Given the description of an element on the screen output the (x, y) to click on. 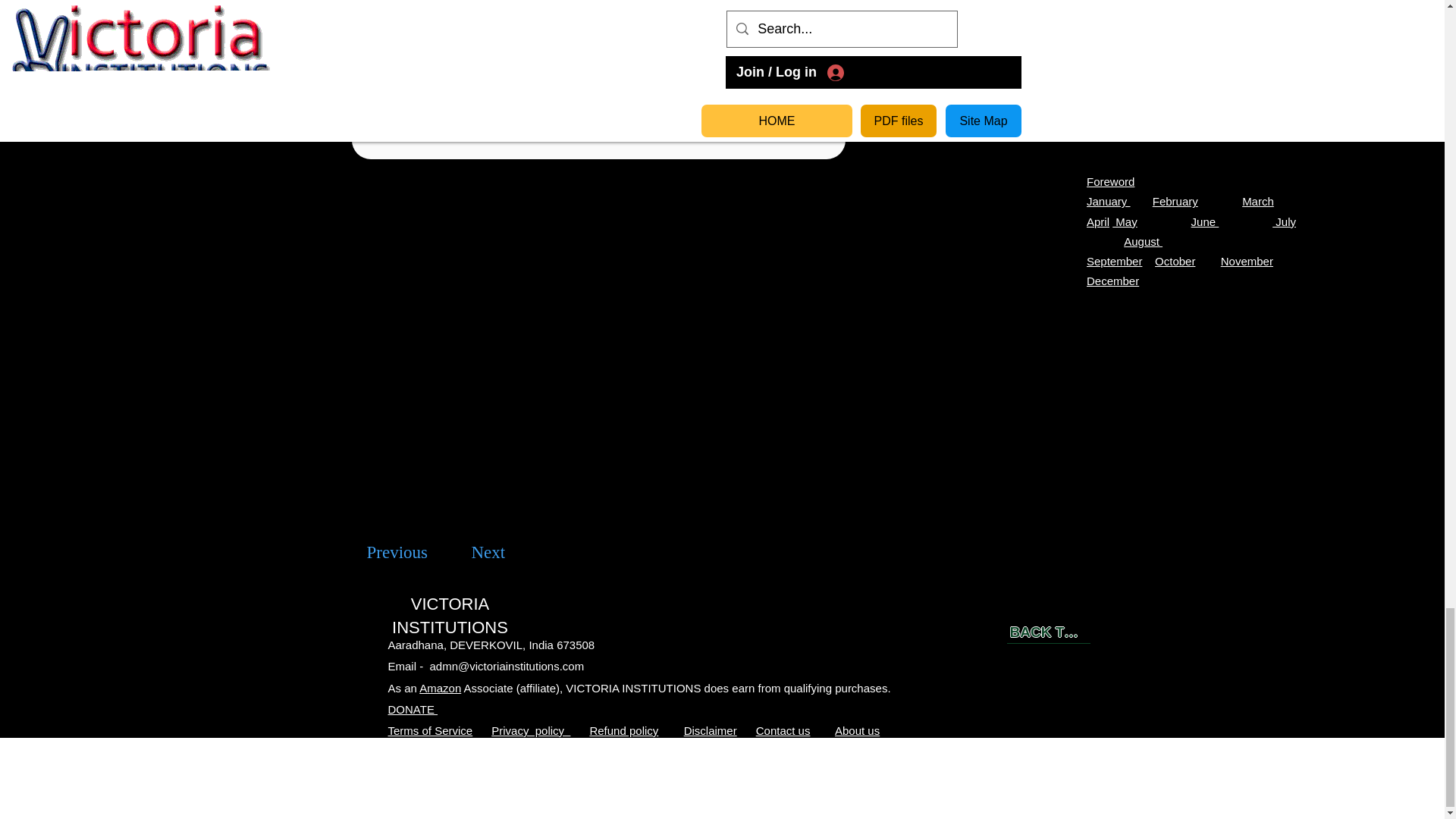
DONATE  (413, 708)
Refund policy (623, 730)
Terms of Service (430, 730)
Next (488, 551)
Contact us (782, 730)
Privacy  policy  (531, 730)
Amazon (440, 687)
DEVERKOVIL Inc. (624, 810)
Previous (397, 551)
Disclaimer (710, 730)
